Given the description of an element on the screen output the (x, y) to click on. 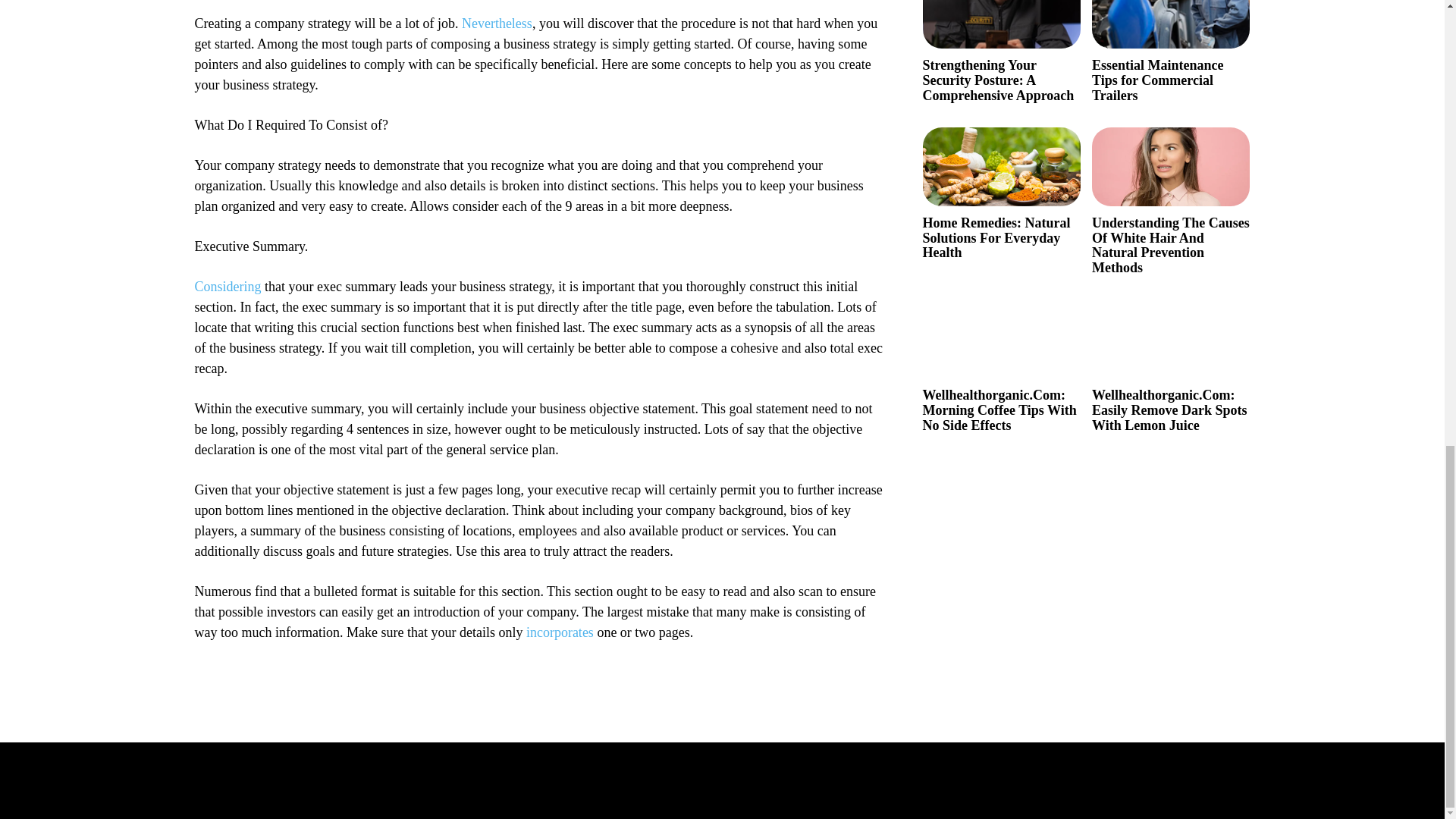
Nevertheless (496, 23)
Essential Maintenance Tips for Commercial Trailers (1158, 80)
Considering (226, 286)
Essential Maintenance Tips for Commercial Trailers (1170, 24)
incorporates (559, 631)
Home Remedies: Natural Solutions For Everyday Health (995, 238)
Home Remedies: Natural Solutions For Everyday Health (1000, 166)
